Given the description of an element on the screen output the (x, y) to click on. 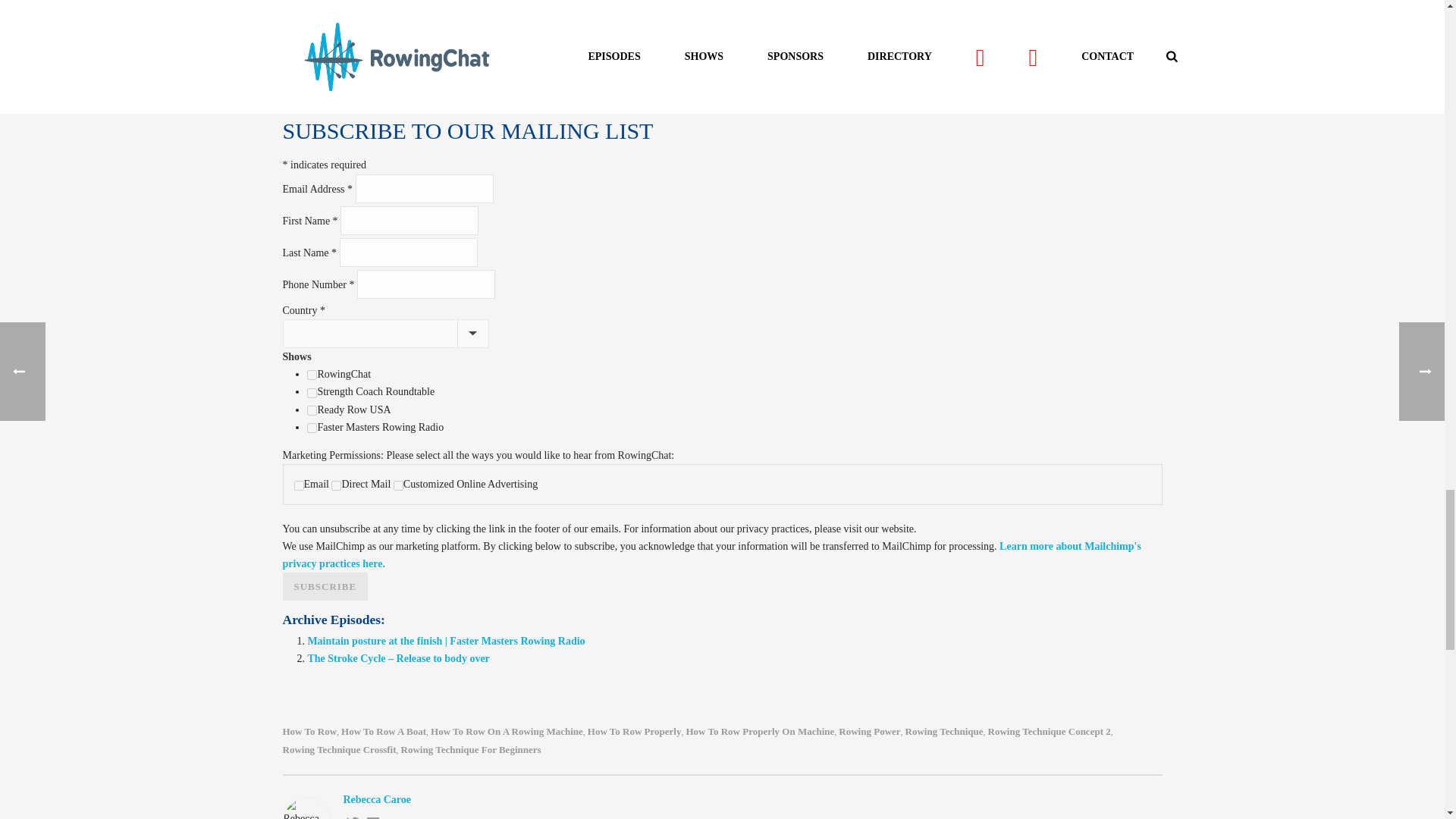
Y (398, 485)
1 (312, 375)
Y (335, 485)
Y (299, 485)
8 (312, 428)
Subscribe (325, 586)
Subscribe (325, 586)
2 (312, 393)
4 (312, 410)
Learn more about Mailchimp's privacy practices here. (711, 554)
